Given the description of an element on the screen output the (x, y) to click on. 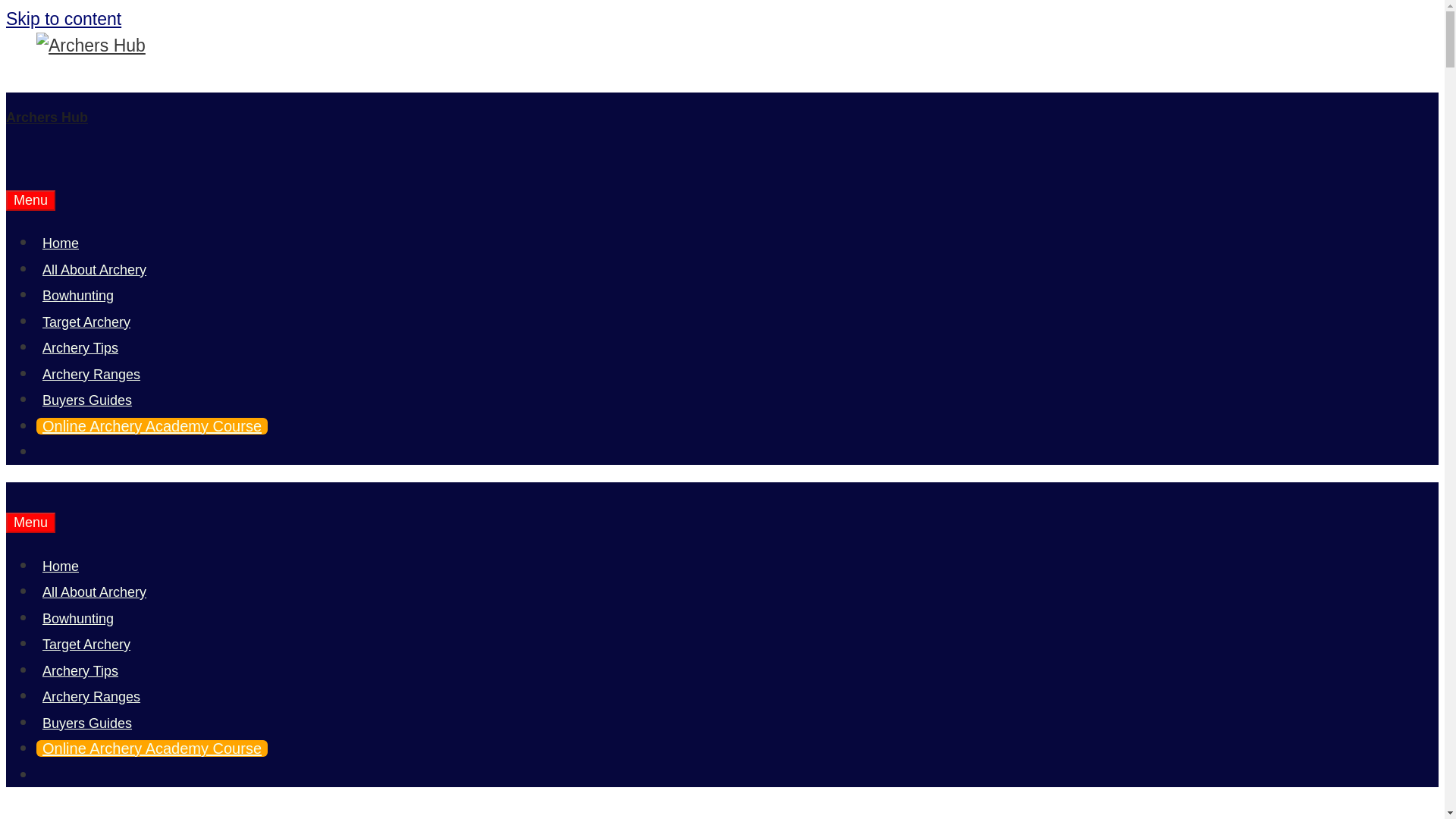
Archery Tips (79, 347)
Skip to content (62, 18)
Archery Tips (79, 670)
Home (60, 242)
Target Archery (86, 321)
Menu (30, 522)
Buyers Guides (87, 723)
Archers Hub (46, 117)
All About Archery (94, 269)
Target Archery (86, 644)
